Given the description of an element on the screen output the (x, y) to click on. 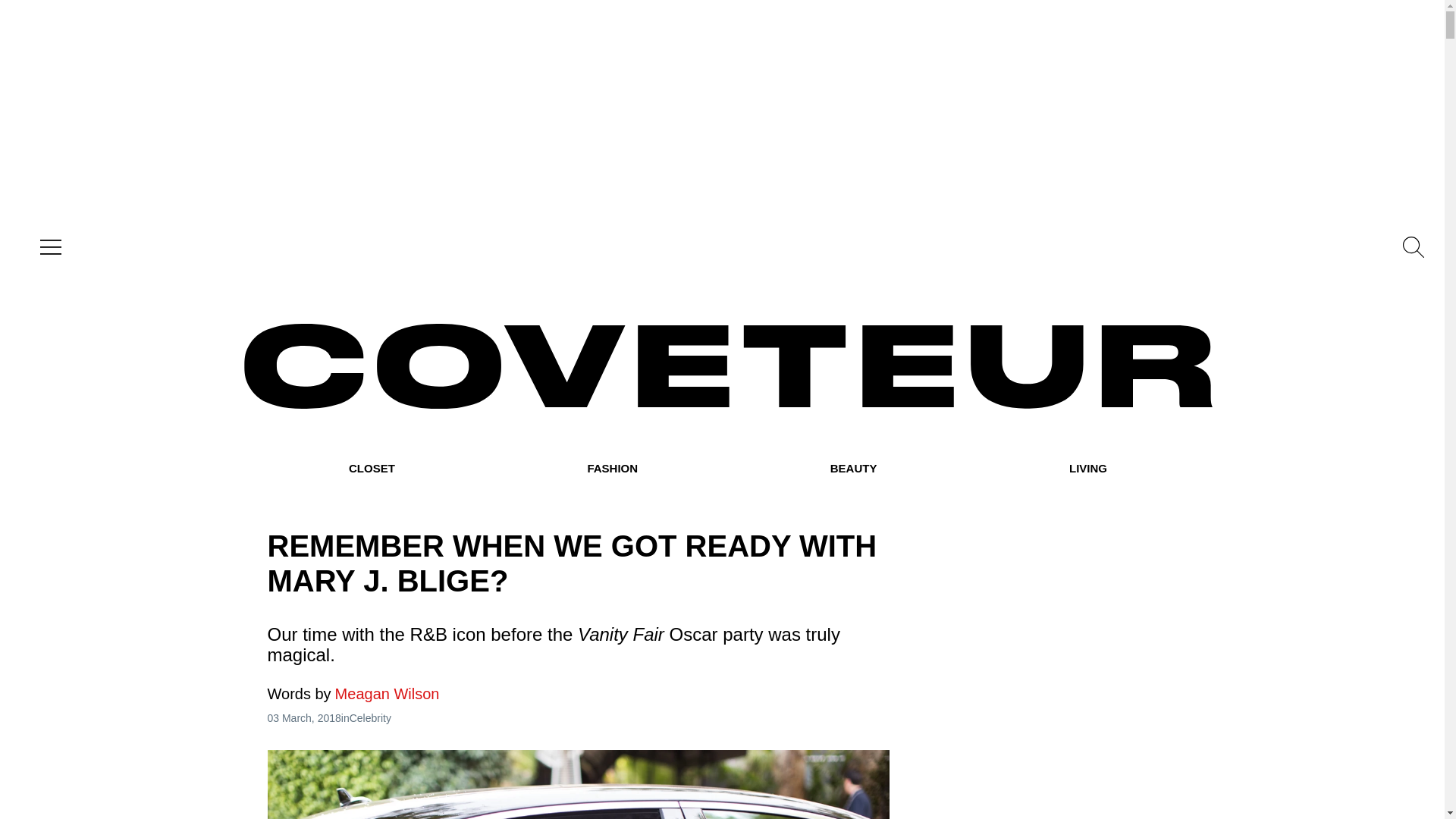
LIVING (1087, 468)
CLOSET (371, 468)
menu (47, 246)
Celebrity (370, 717)
BEAUTY (853, 468)
Meagan Wilson (352, 693)
FASHION (611, 468)
